Given the description of an element on the screen output the (x, y) to click on. 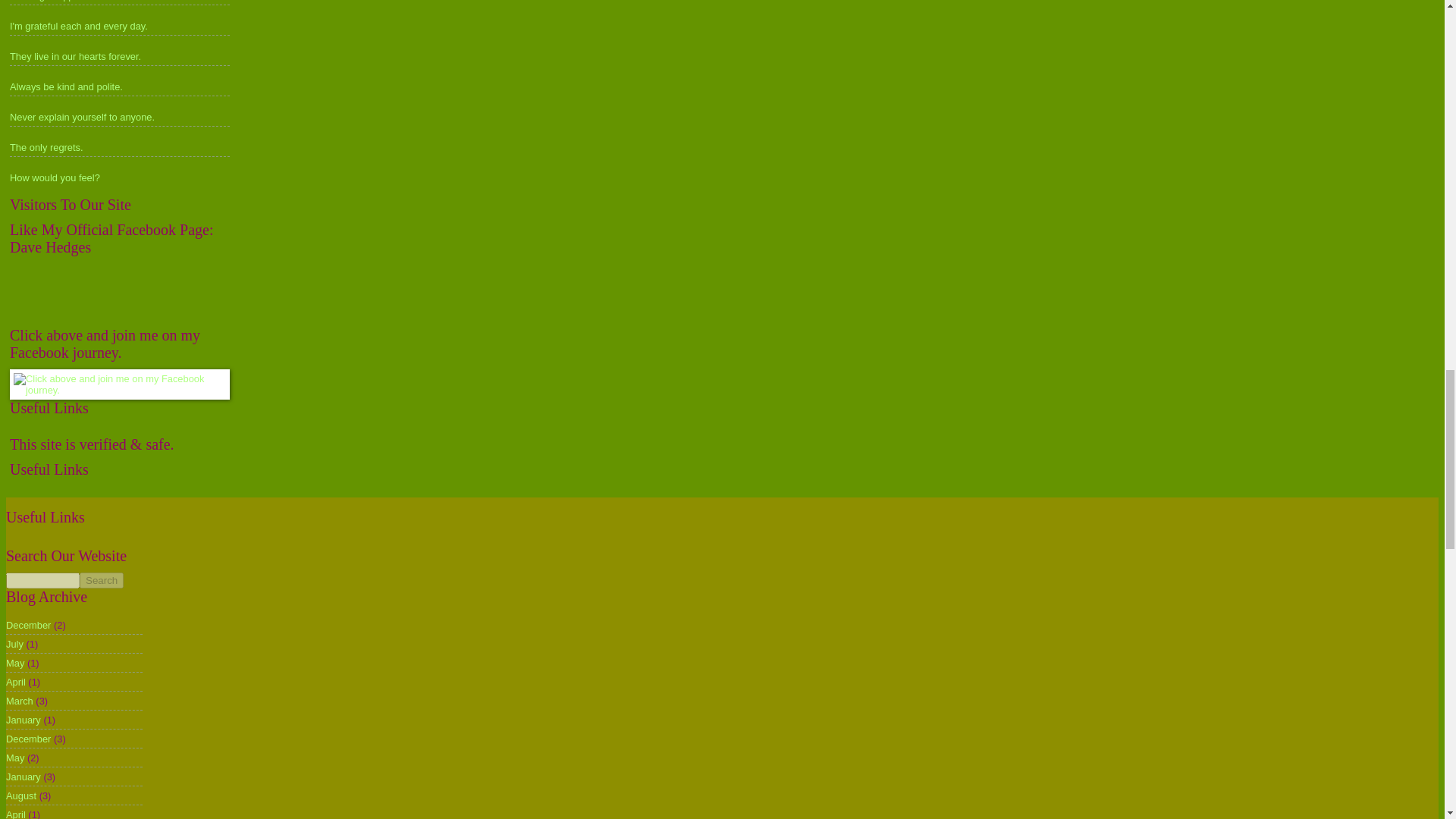
Always be kind and polite. (66, 86)
I'm grateful each and every day. (79, 25)
The only regrets. (46, 147)
Advertisement (281, 539)
Never explain yourself to anyone. (82, 116)
How would you feel? (55, 177)
They live in our hearts forever. (75, 56)
Search (101, 580)
Search (101, 580)
All things happen for a reason. (76, 0)
